Given the description of an element on the screen output the (x, y) to click on. 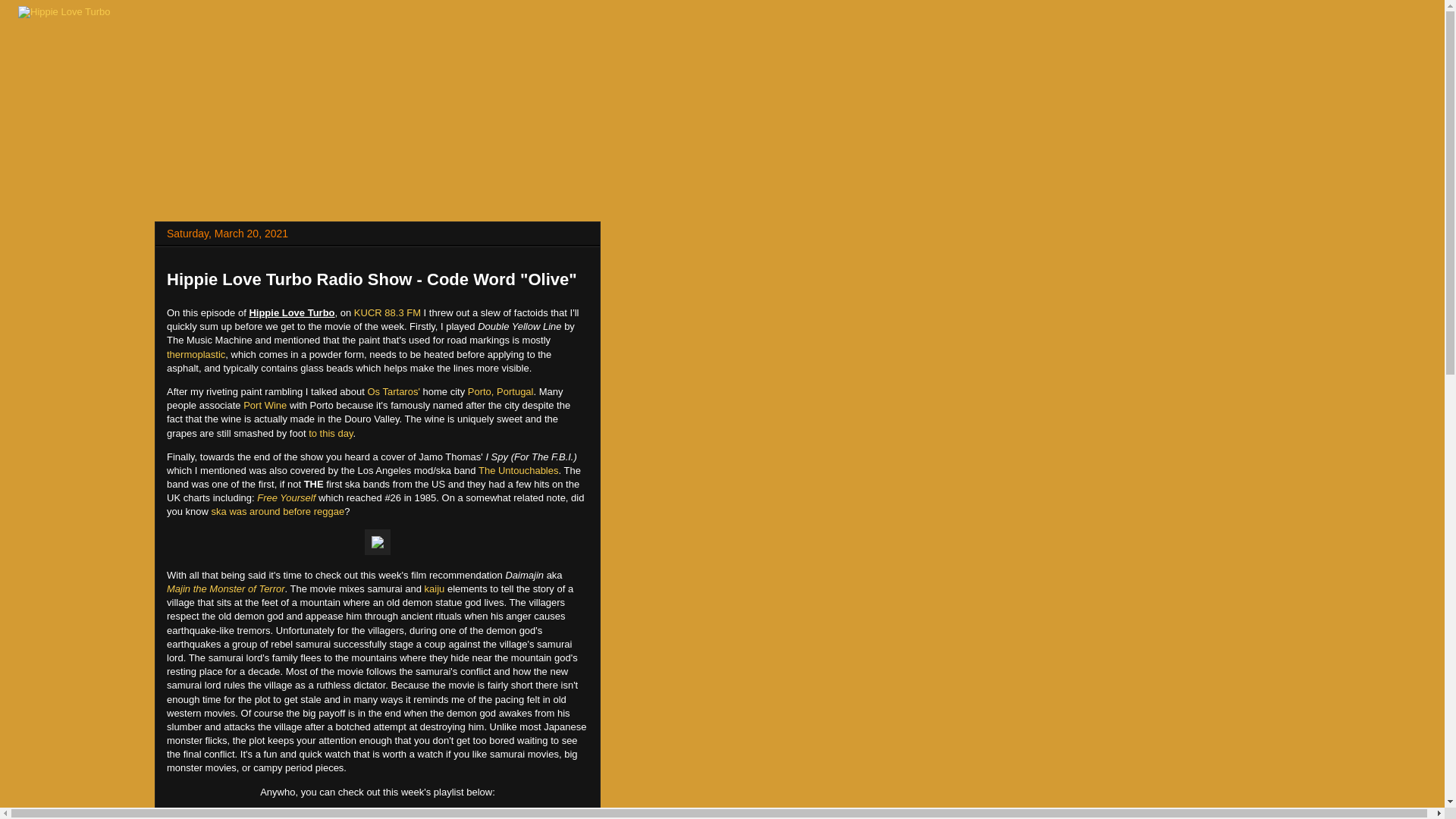
Os Tartaros' (392, 391)
Porto, Portugal (500, 391)
thermoplastic (196, 354)
KUCR 88.3 FM (386, 312)
Free Yourself (286, 497)
ska was around before reggae (278, 511)
The Untouchables (519, 470)
Port Wine (264, 405)
kaiju (435, 588)
Majin the Monster of Terror (226, 588)
